Given the description of an element on the screen output the (x, y) to click on. 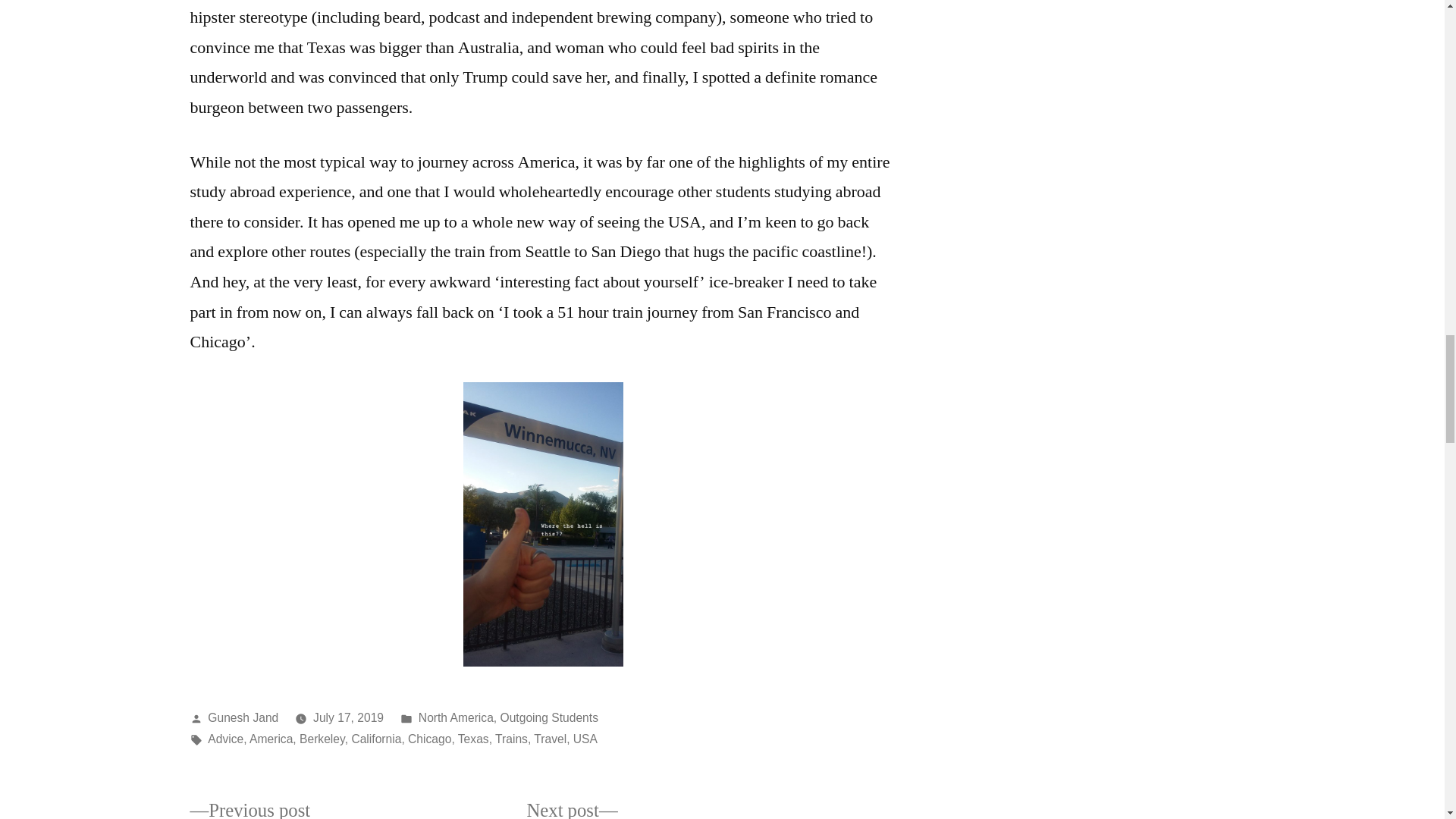
California (375, 738)
Berkeley (322, 738)
Outgoing Students (549, 717)
USA (584, 738)
North America (456, 717)
Texas (473, 738)
Advice (225, 738)
Trains (511, 738)
July 17, 2019 (348, 717)
Chicago (429, 738)
America (270, 738)
Gunesh Jand (243, 717)
Travel (550, 738)
